Given the description of an element on the screen output the (x, y) to click on. 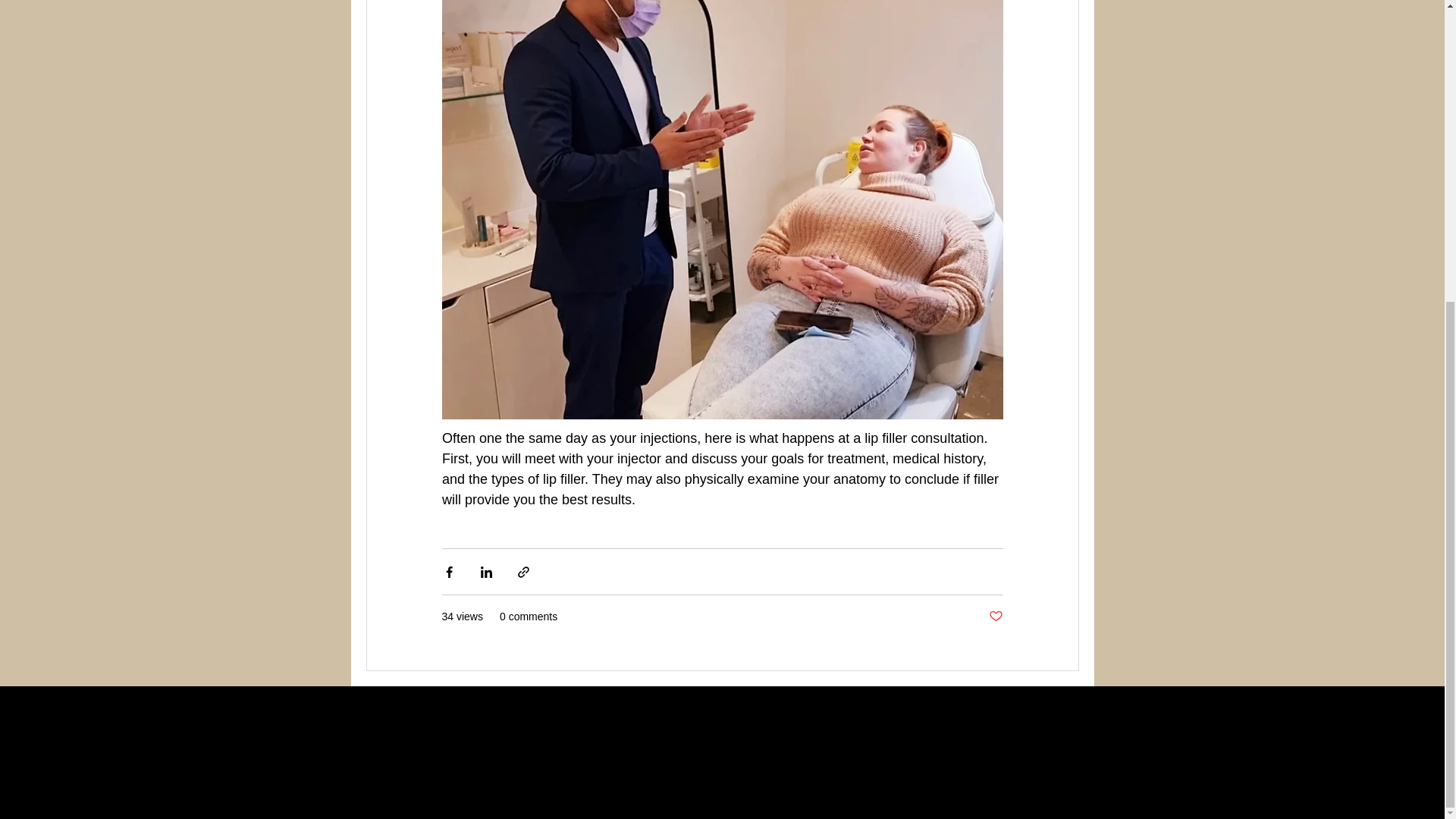
Post not marked as liked (995, 616)
